Given the description of an element on the screen output the (x, y) to click on. 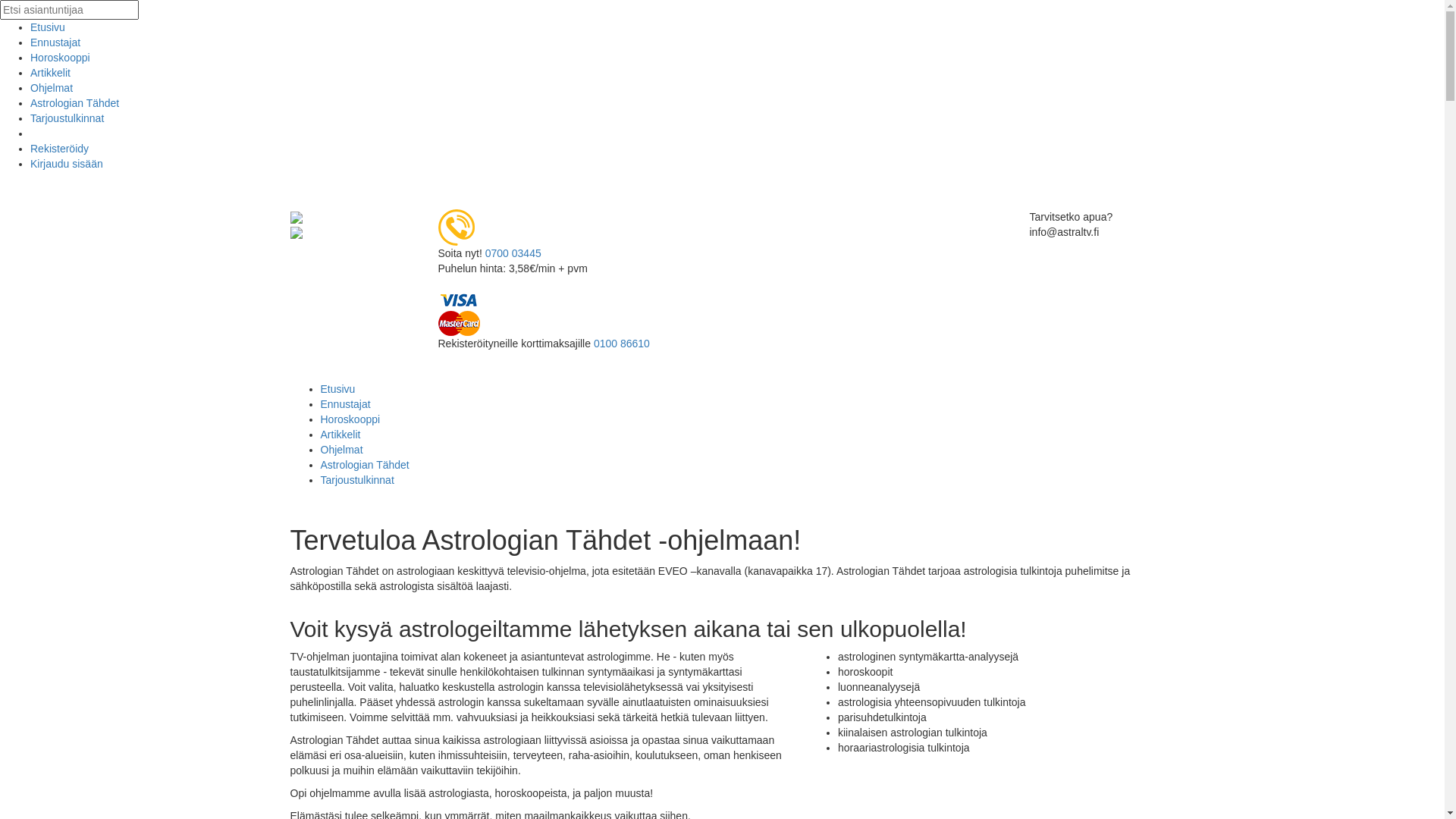
Artikkelit Element type: text (50, 72)
Ennustajat Element type: text (55, 42)
Ohjelmat Element type: text (341, 449)
Horoskooppi Element type: text (349, 419)
Tarjoustulkinnat Element type: text (356, 479)
0700 03445 Element type: text (513, 253)
Ohjelmat Element type: text (51, 87)
Tarjoustulkinnat Element type: text (66, 118)
Horoskooppi Element type: text (60, 57)
Artikkelit Element type: text (340, 434)
Etusivu Element type: text (47, 27)
Etusivu Element type: text (337, 388)
www.astraltv.fi - Finland - Finish Element type: hover (295, 216)
0100 86610 Element type: text (621, 343)
Ennustajat Element type: text (345, 404)
